Given the description of an element on the screen output the (x, y) to click on. 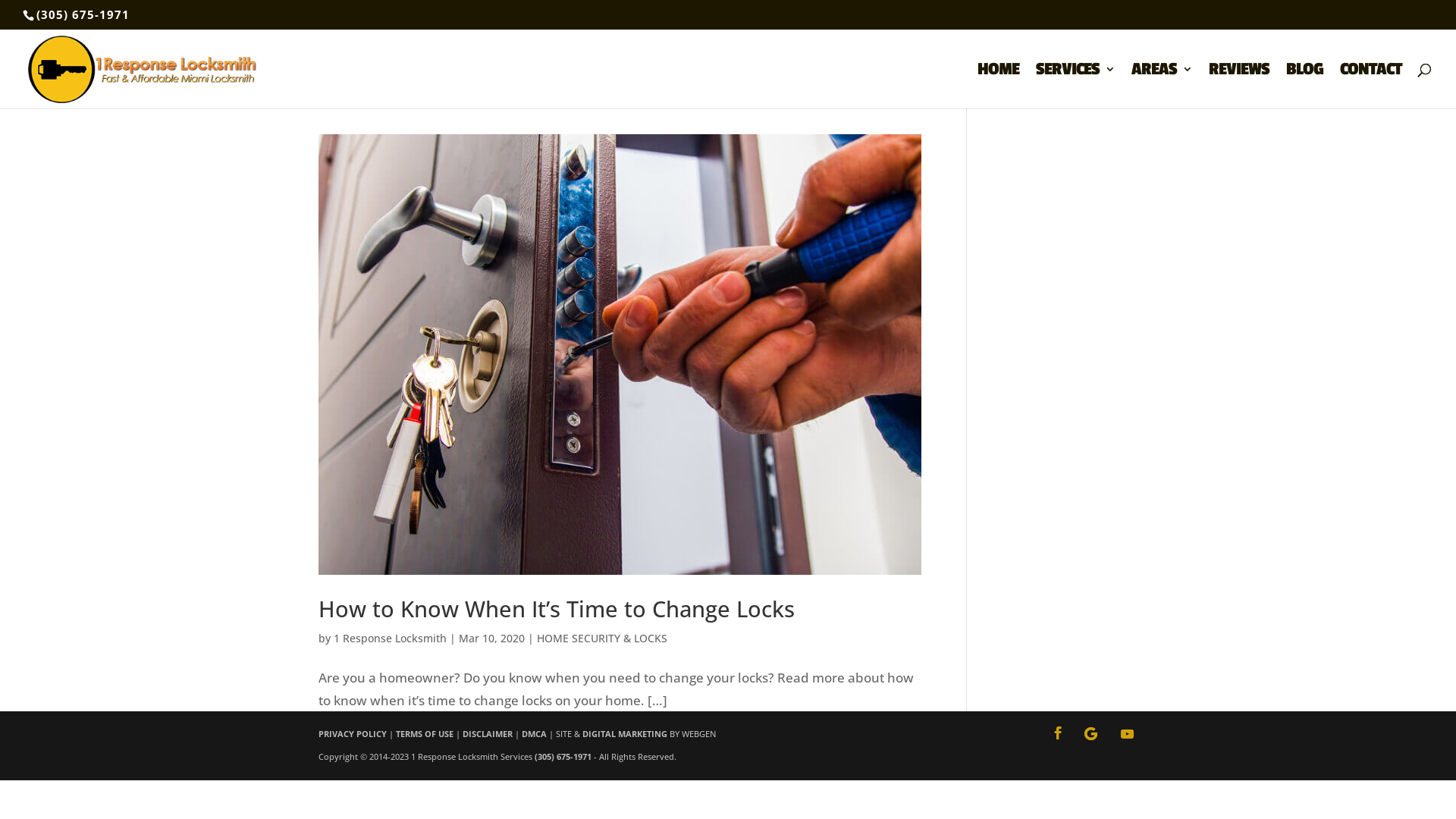
PRIVACY POLICY Element type: text (352, 733)
(305) 675-1971 Element type: text (562, 756)
TERMS OF USE Element type: text (424, 733)
REVIEWS Element type: text (1238, 85)
DIGITAL MARKETING Element type: text (624, 733)
1 Response Locksmith Element type: text (389, 637)
DISCLAIMER Element type: text (487, 733)
AREAS Element type: text (1161, 85)
HOME SECURITY & LOCKS Element type: text (601, 637)
(305) 675-1971 Element type: text (82, 13)
HOME Element type: text (998, 85)
CONTACT Element type: text (1370, 85)
DMCA Element type: text (533, 733)
SERVICES Element type: text (1074, 85)
BLOG Element type: text (1304, 85)
